Given the description of an element on the screen output the (x, y) to click on. 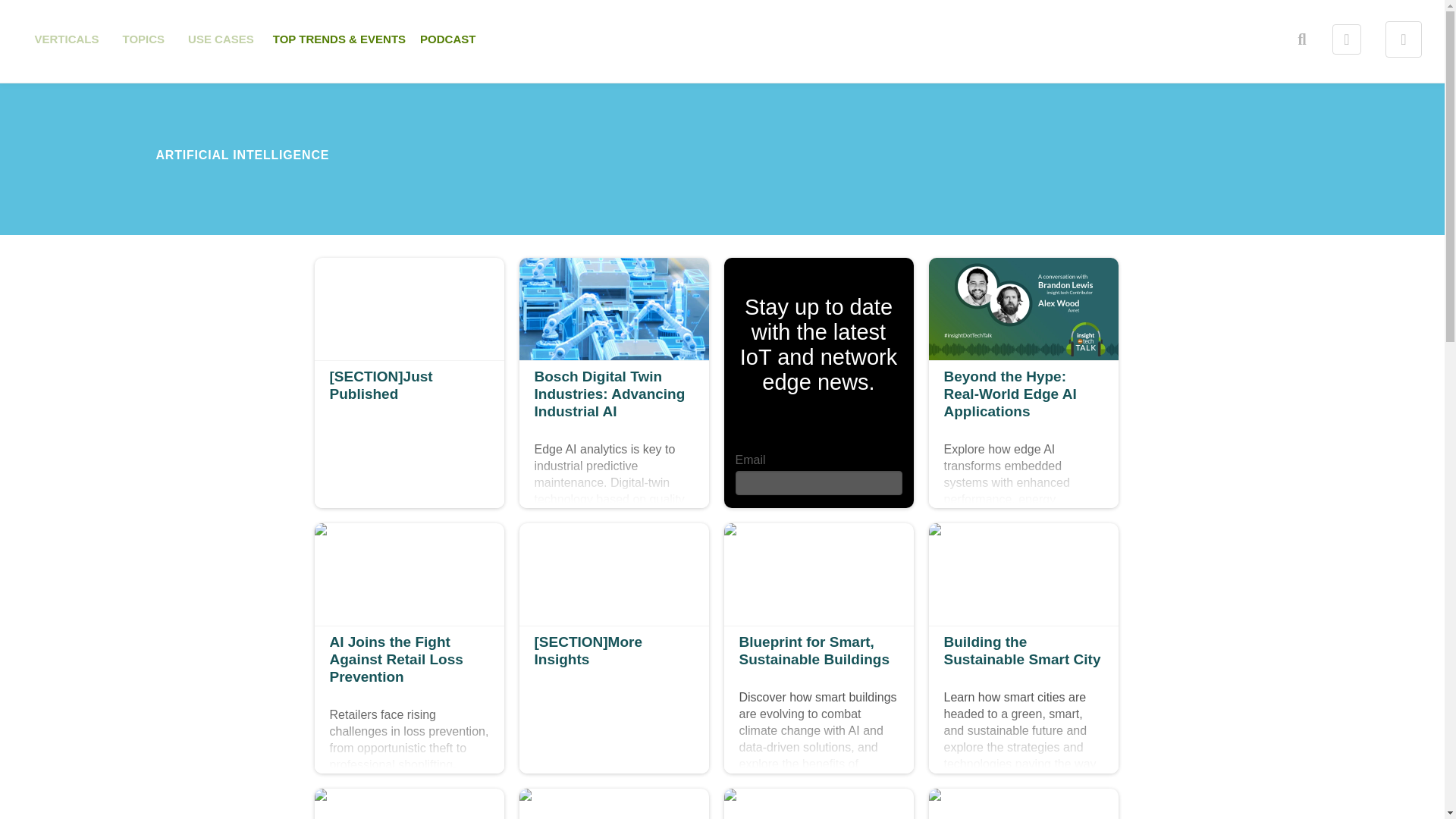
Open search box (1302, 39)
Share this Stream (143, 39)
Share this Stream (1346, 39)
PODCAST (1346, 39)
Open Search Box (448, 39)
Open Locale Selector Menu (66, 39)
